Given the description of an element on the screen output the (x, y) to click on. 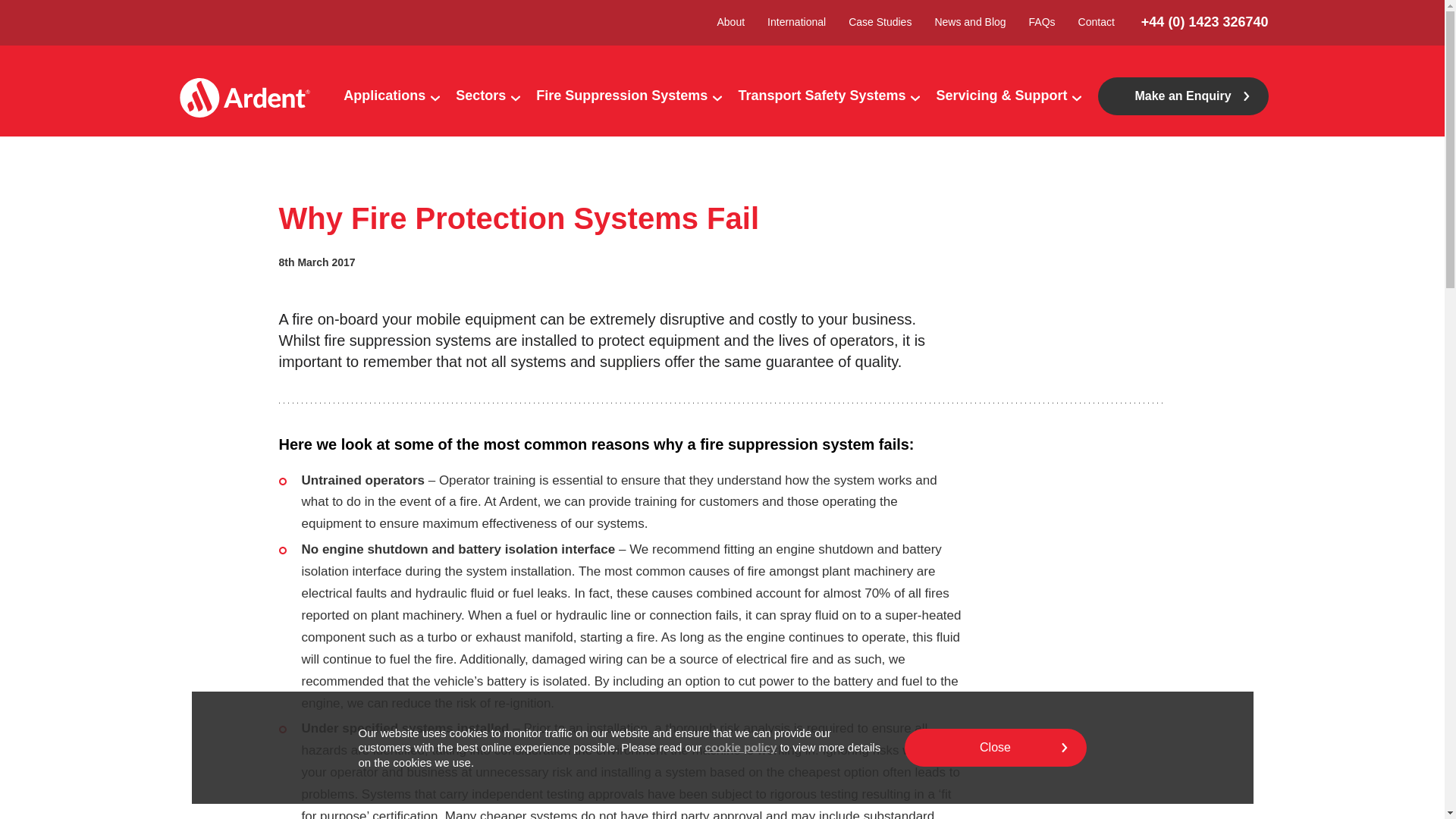
Applications (384, 95)
International (796, 22)
Close (995, 747)
Sectors (480, 95)
About (730, 22)
Case Studies (879, 22)
Contact (1096, 22)
FAQs (1042, 22)
Make an Enquiry (1182, 95)
cookie policy (740, 747)
News and Blog (970, 22)
Fire Suppression Systems (621, 95)
